Given the description of an element on the screen output the (x, y) to click on. 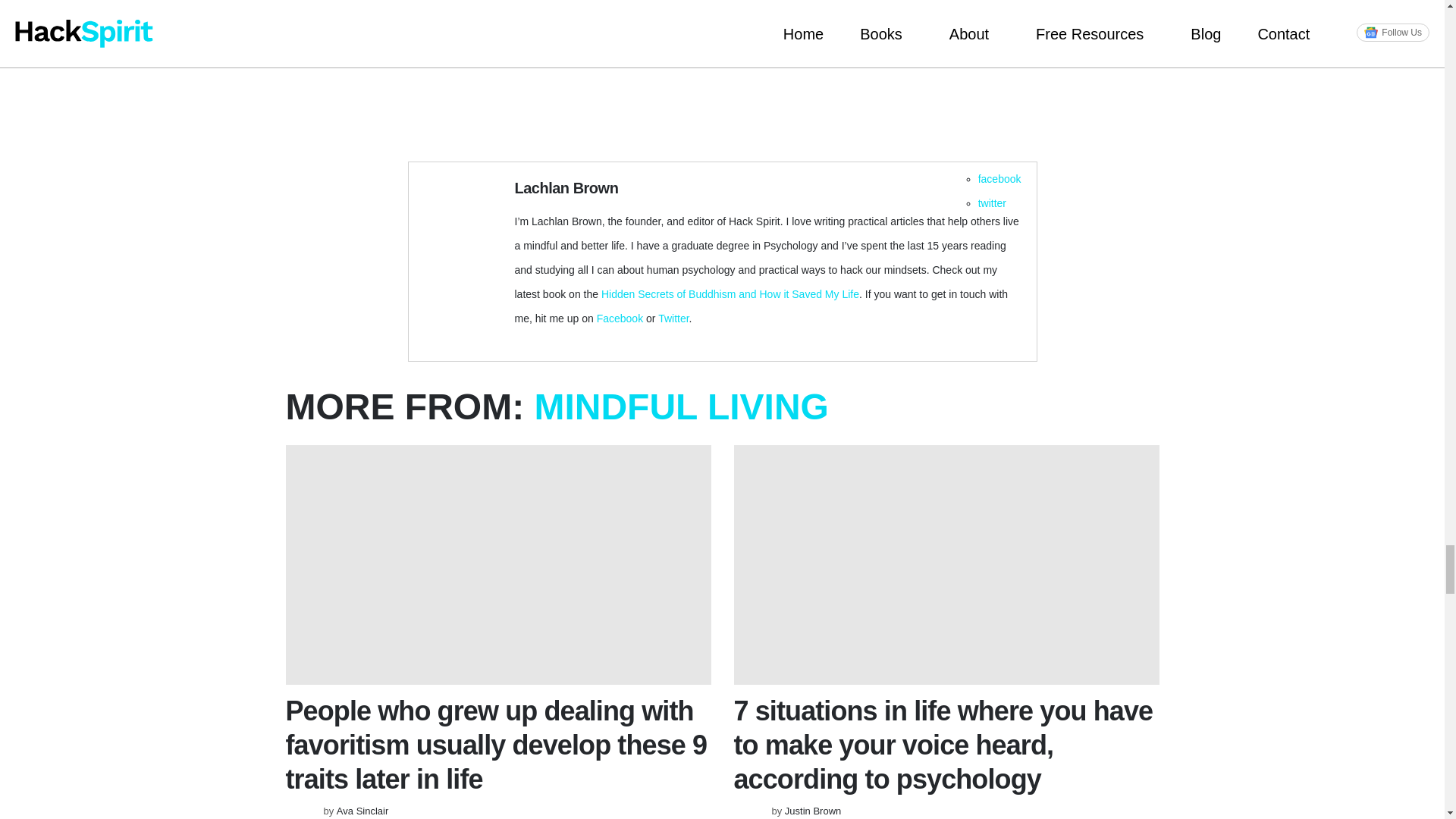
Posts by Justin Brown (812, 810)
Posts by Ava Sinclair (362, 810)
